Given the description of an element on the screen output the (x, y) to click on. 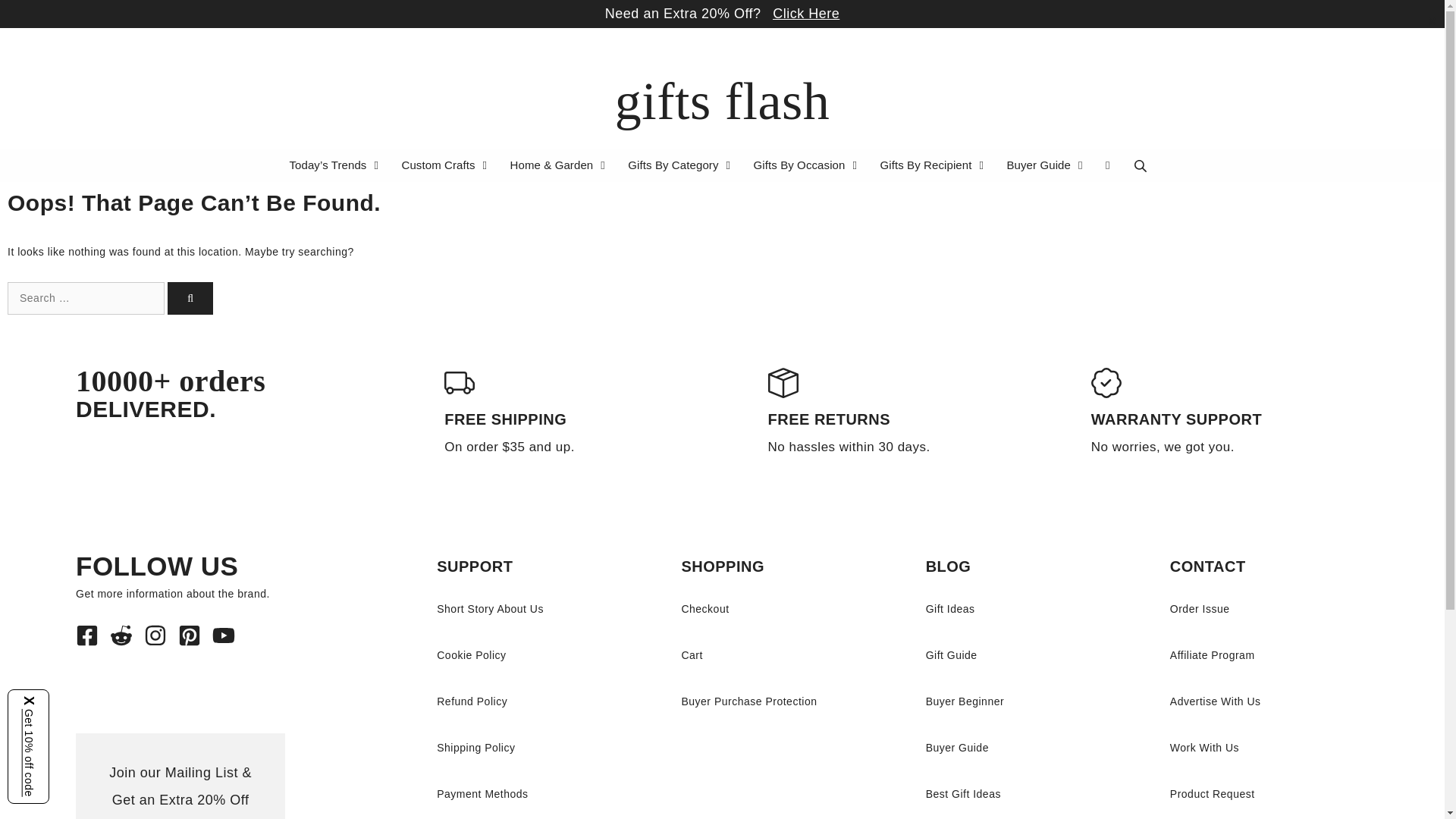
Custom Crafts (445, 164)
Click Here (806, 13)
gifts flash (721, 101)
Search for: (85, 297)
